Given the description of an element on the screen output the (x, y) to click on. 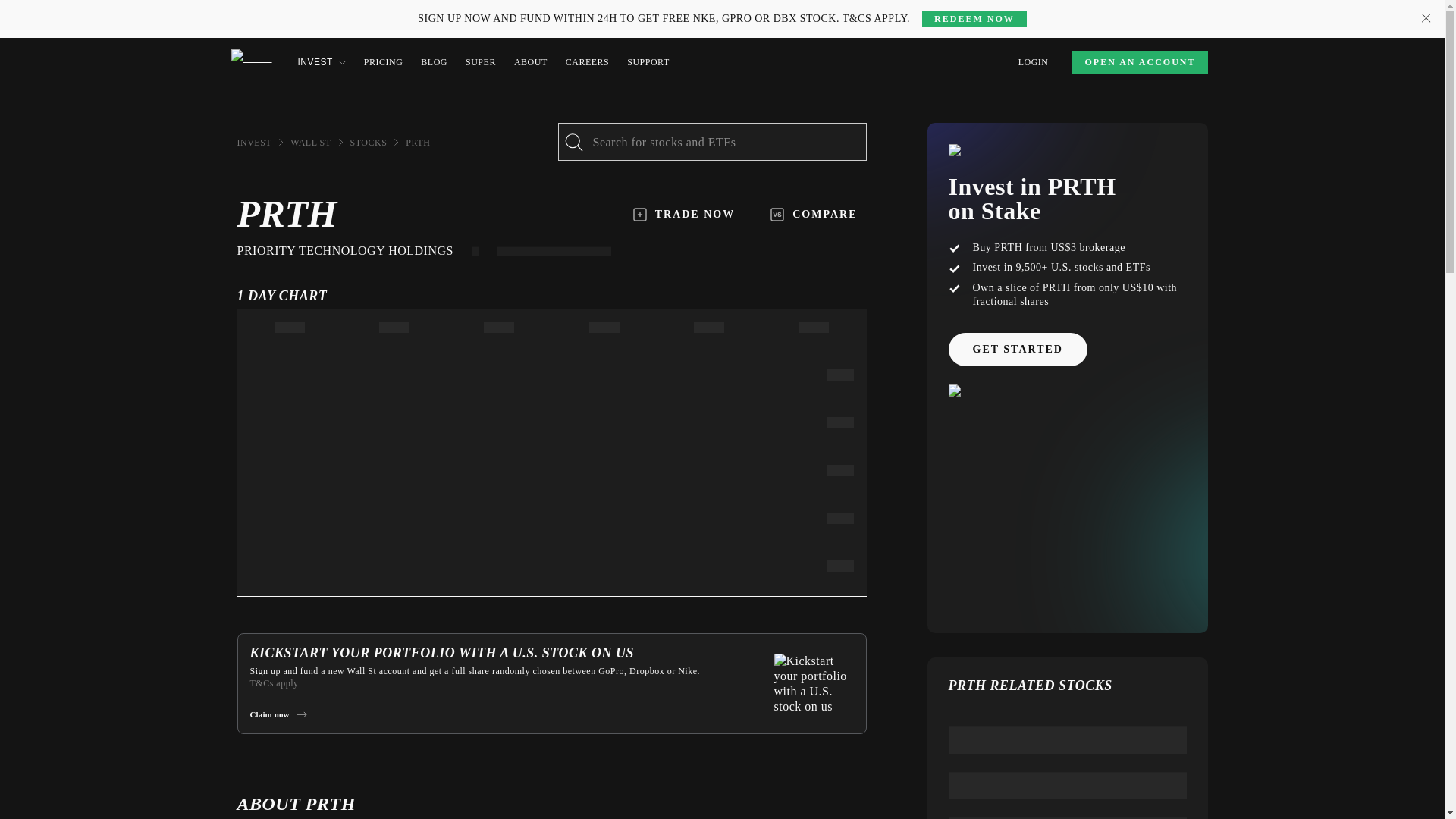
INVEST (321, 61)
OPEN AN ACCOUNT (1139, 61)
PRTH (417, 142)
REDEEM NOW (973, 18)
STOCKS (368, 142)
SUPPORT (647, 61)
GET STARTED (1016, 349)
ABOUT (530, 61)
COMPARE (813, 213)
SUPER (480, 61)
